Given the description of an element on the screen output the (x, y) to click on. 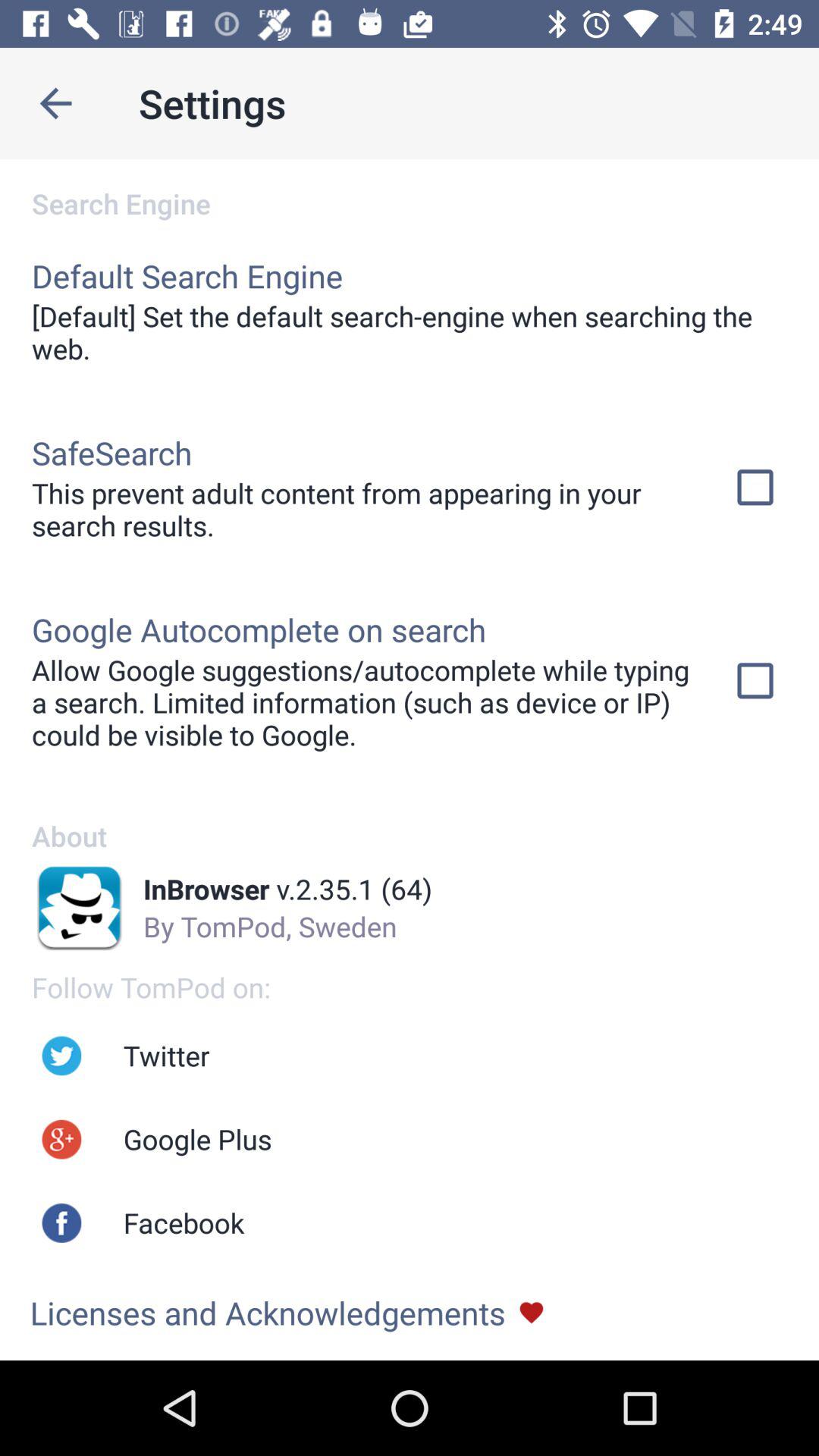
open icon above google plus (166, 1055)
